Given the description of an element on the screen output the (x, y) to click on. 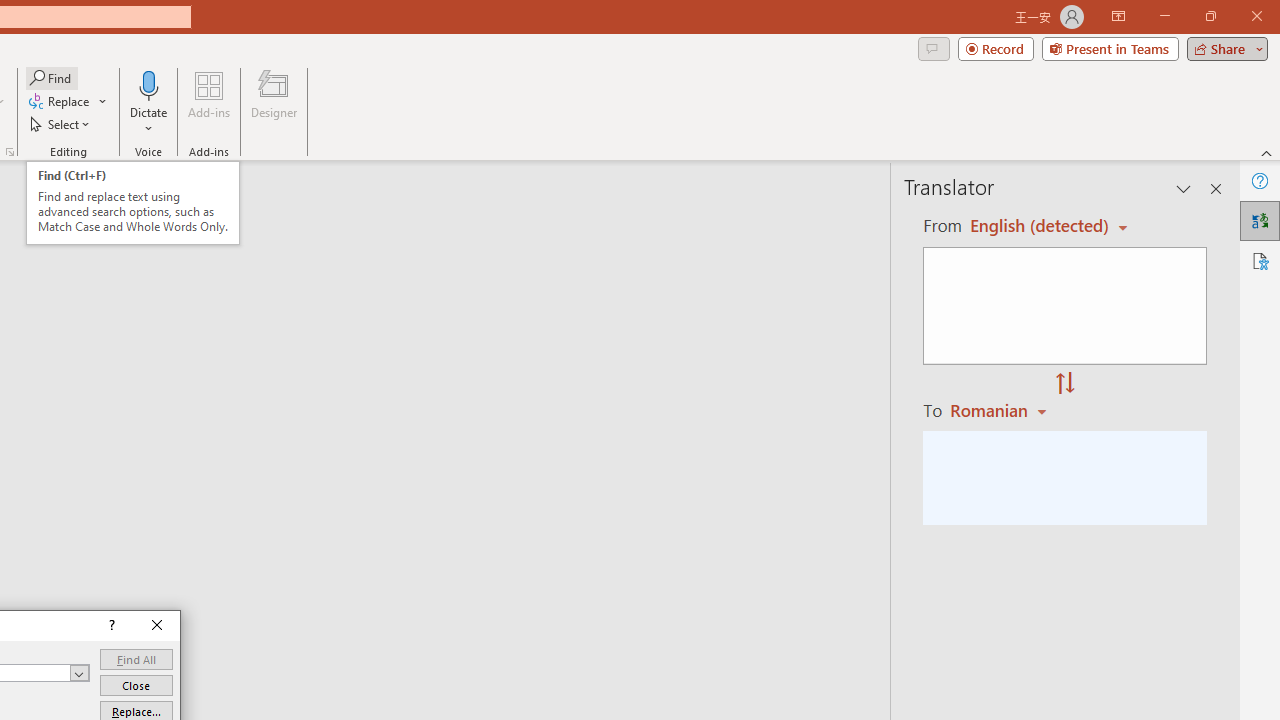
Find All (136, 659)
